Given the description of an element on the screen output the (x, y) to click on. 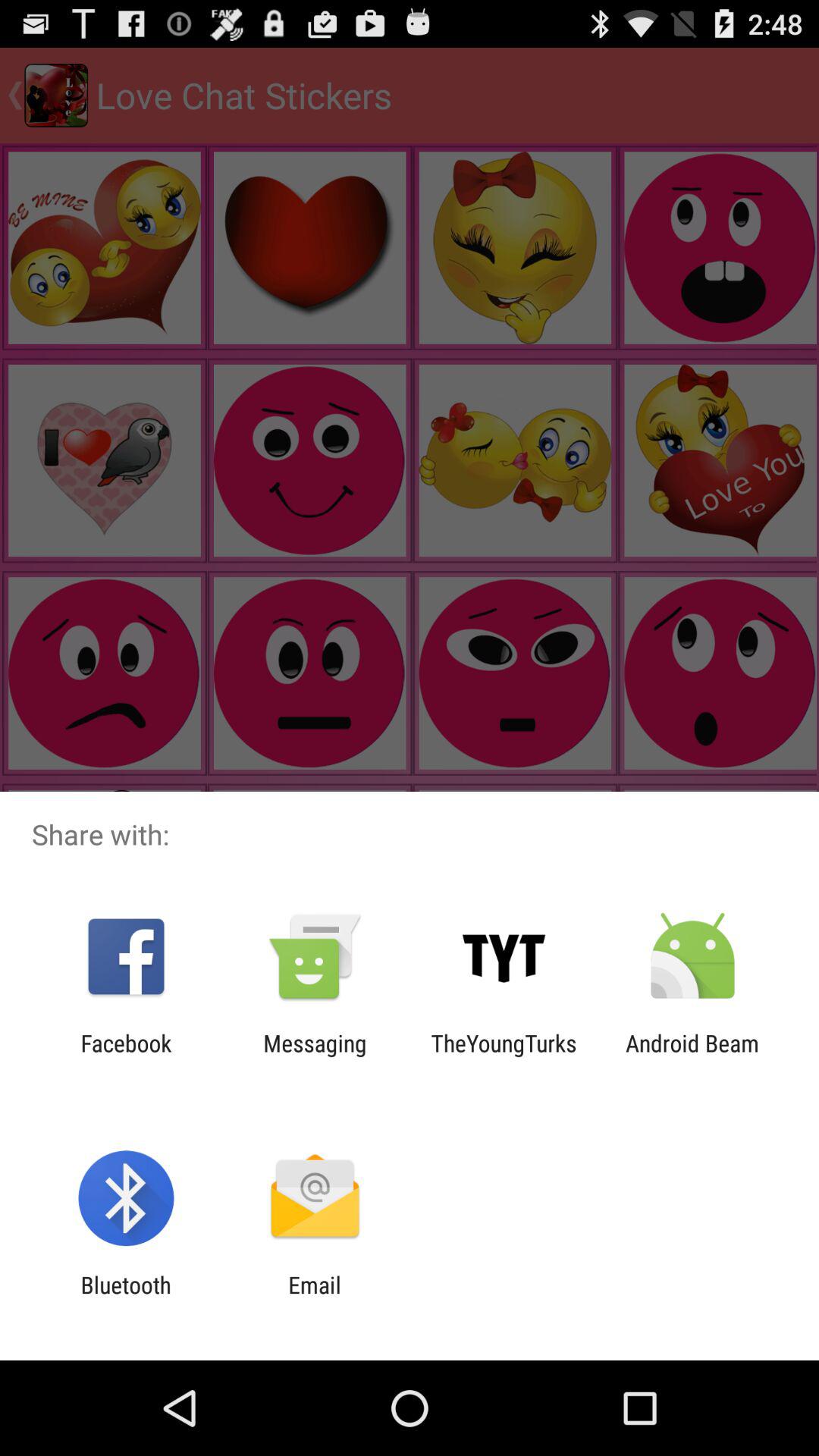
launch the item next to the messaging item (503, 1056)
